Given the description of an element on the screen output the (x, y) to click on. 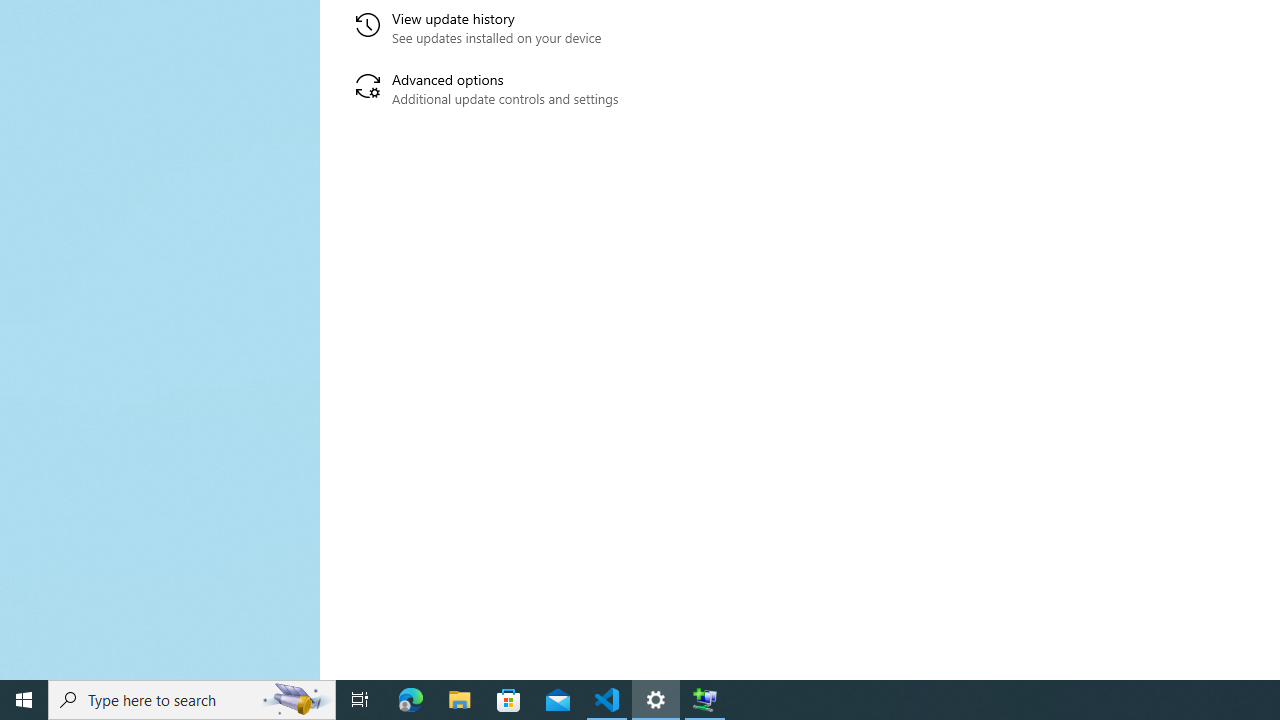
Settings - 1 running window (656, 699)
Advanced options (566, 89)
Extensible Wizards Host Process - 1 running window (704, 699)
